Given the description of an element on the screen output the (x, y) to click on. 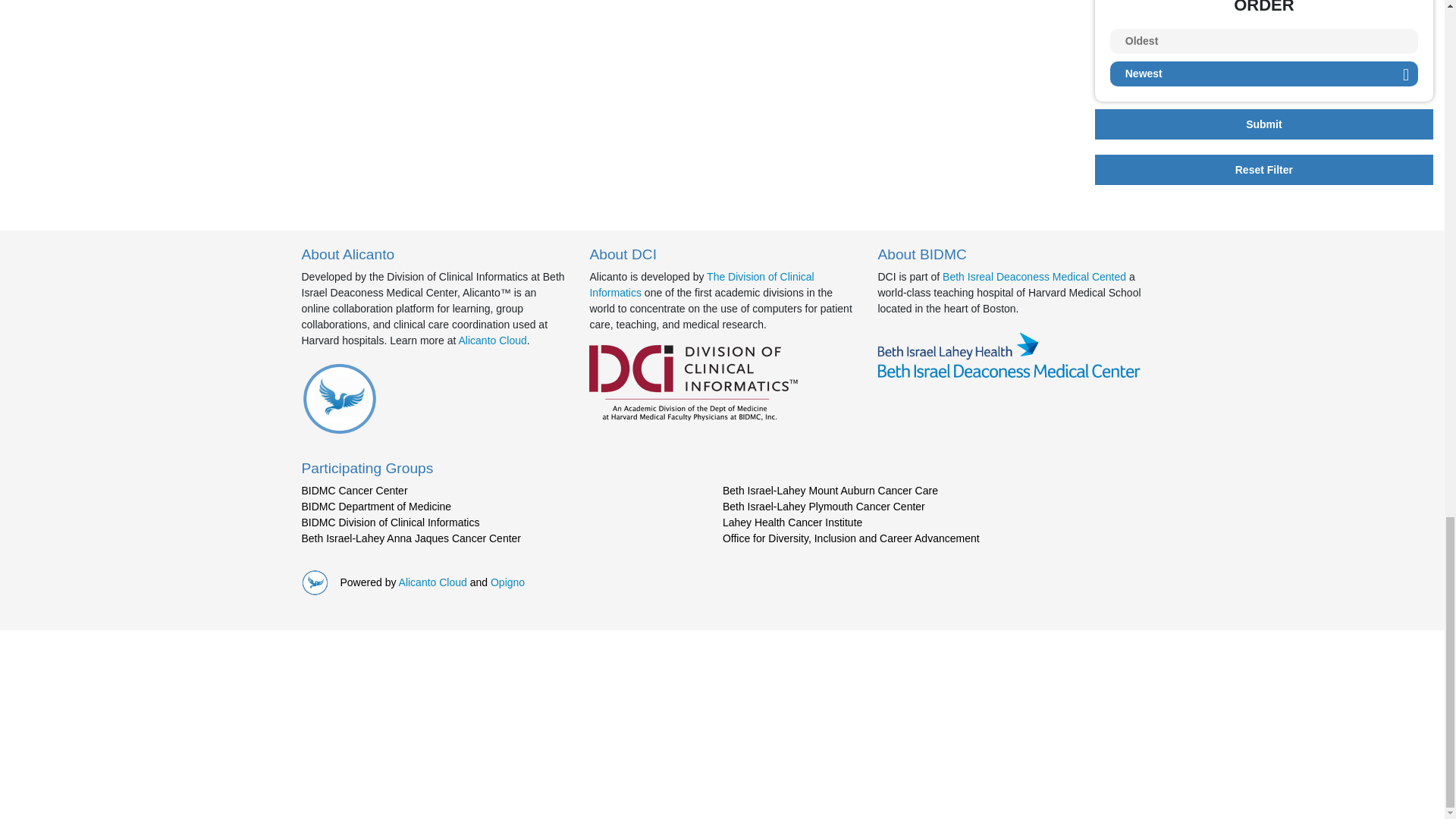
Alicanto Cloud Logo (1009, 355)
Alicanto Cloud Logo (339, 398)
Division of Clinical Informatics Logo (693, 382)
